Given the description of an element on the screen output the (x, y) to click on. 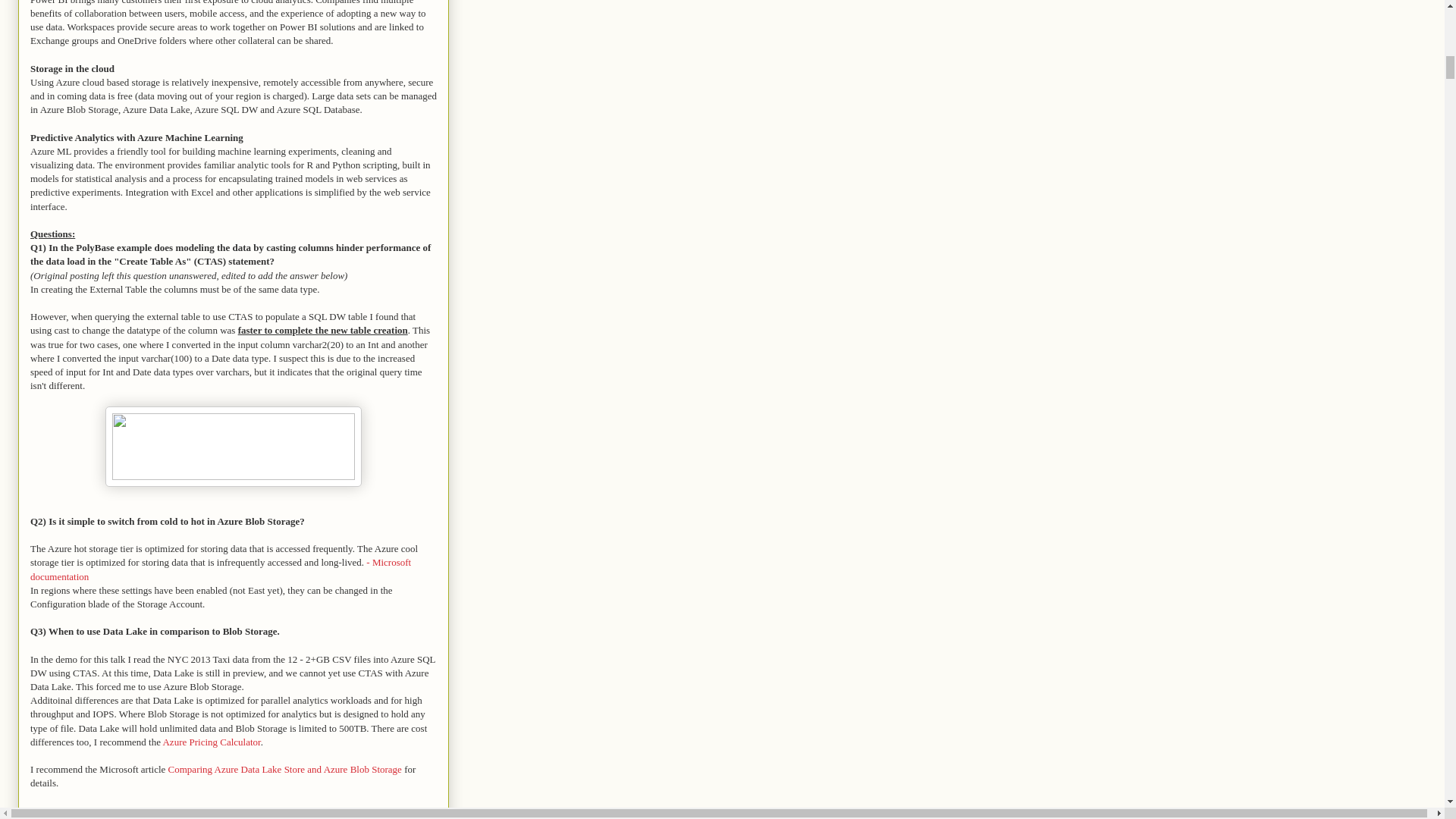
Azure Pricing Calculator (210, 741)
- Microsoft documentation  (220, 568)
Comparing Azure Data Lake Store and Azure Blob Storage (284, 768)
